Given the description of an element on the screen output the (x, y) to click on. 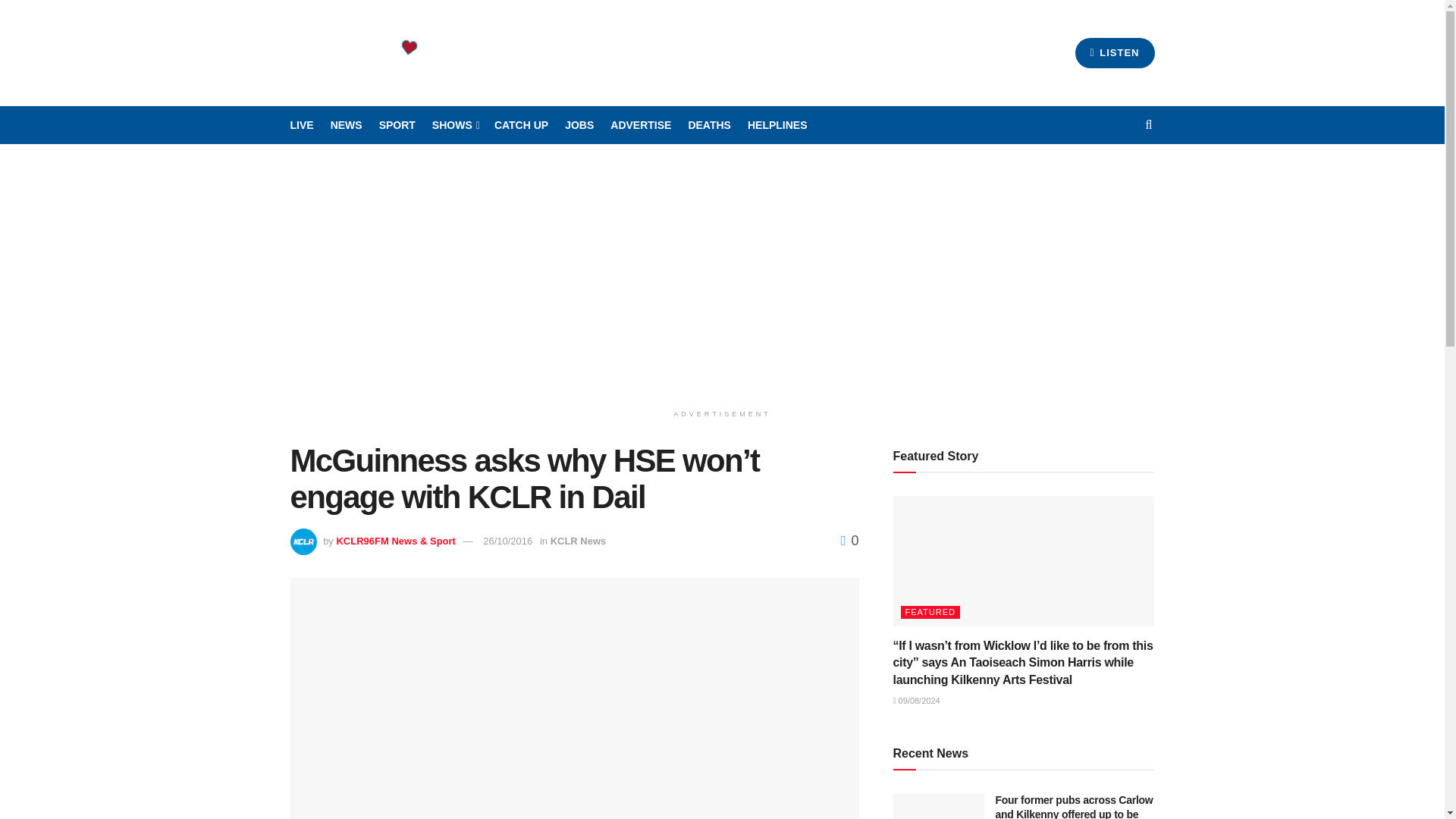
Carlow and Kilkenny Death Notices (708, 125)
Listen back to KCLR shows (521, 125)
HELPLINES (778, 125)
LISTEN (1114, 52)
SPORT (396, 125)
DEATHS (708, 125)
SHOWS (454, 125)
ADVERTISE (640, 125)
KCLR Sport on Scoreline.ie (396, 125)
CATCH UP (521, 125)
